Given the description of an element on the screen output the (x, y) to click on. 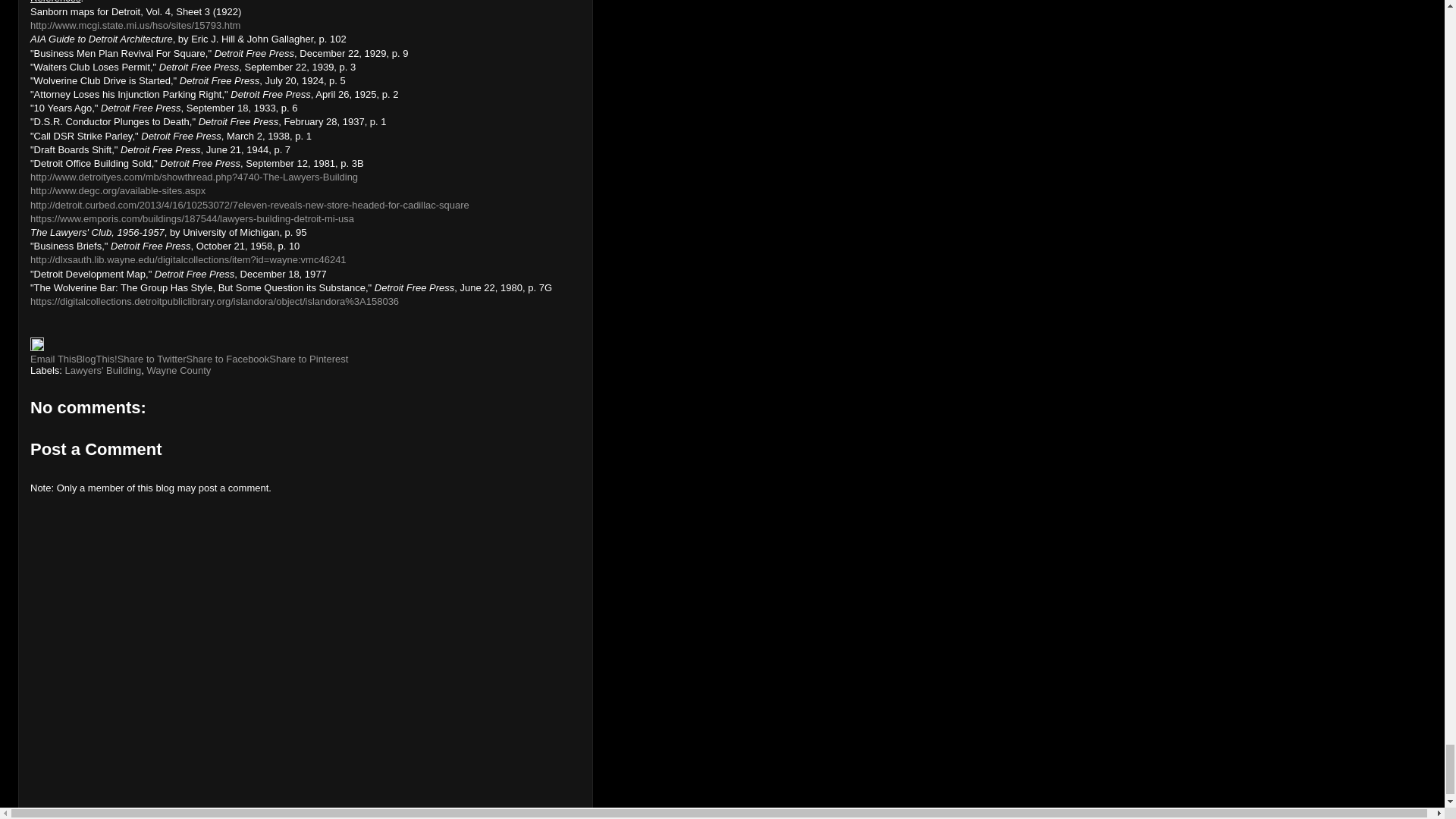
Email This (52, 358)
Share to Pinterest (308, 358)
Edit Post (36, 347)
Share to Facebook (227, 358)
Share to Twitter (151, 358)
BlogThis! (95, 358)
